Given the description of an element on the screen output the (x, y) to click on. 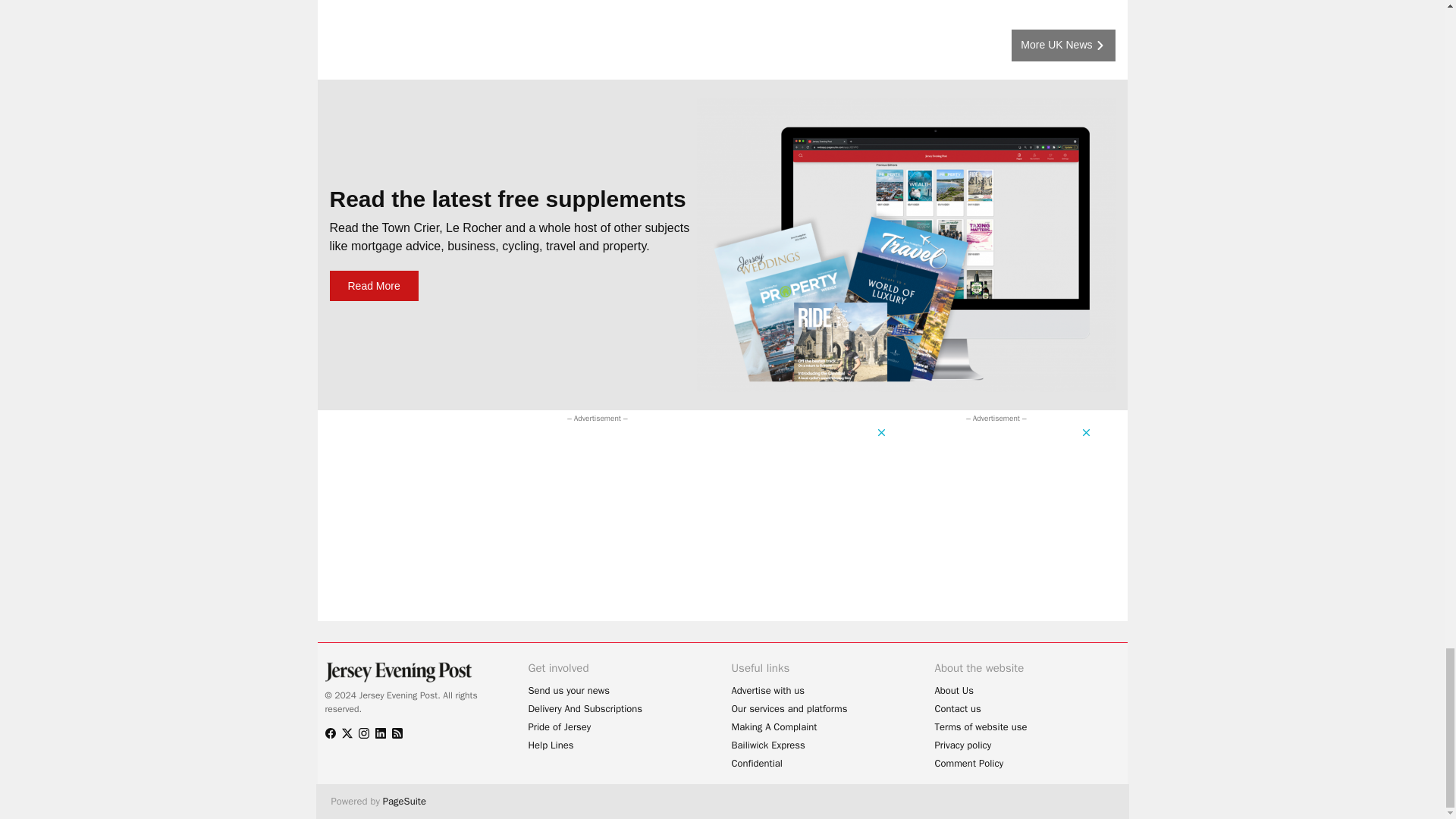
3rd party ad content (978, 520)
3rd party ad content (610, 459)
